Given the description of an element on the screen output the (x, y) to click on. 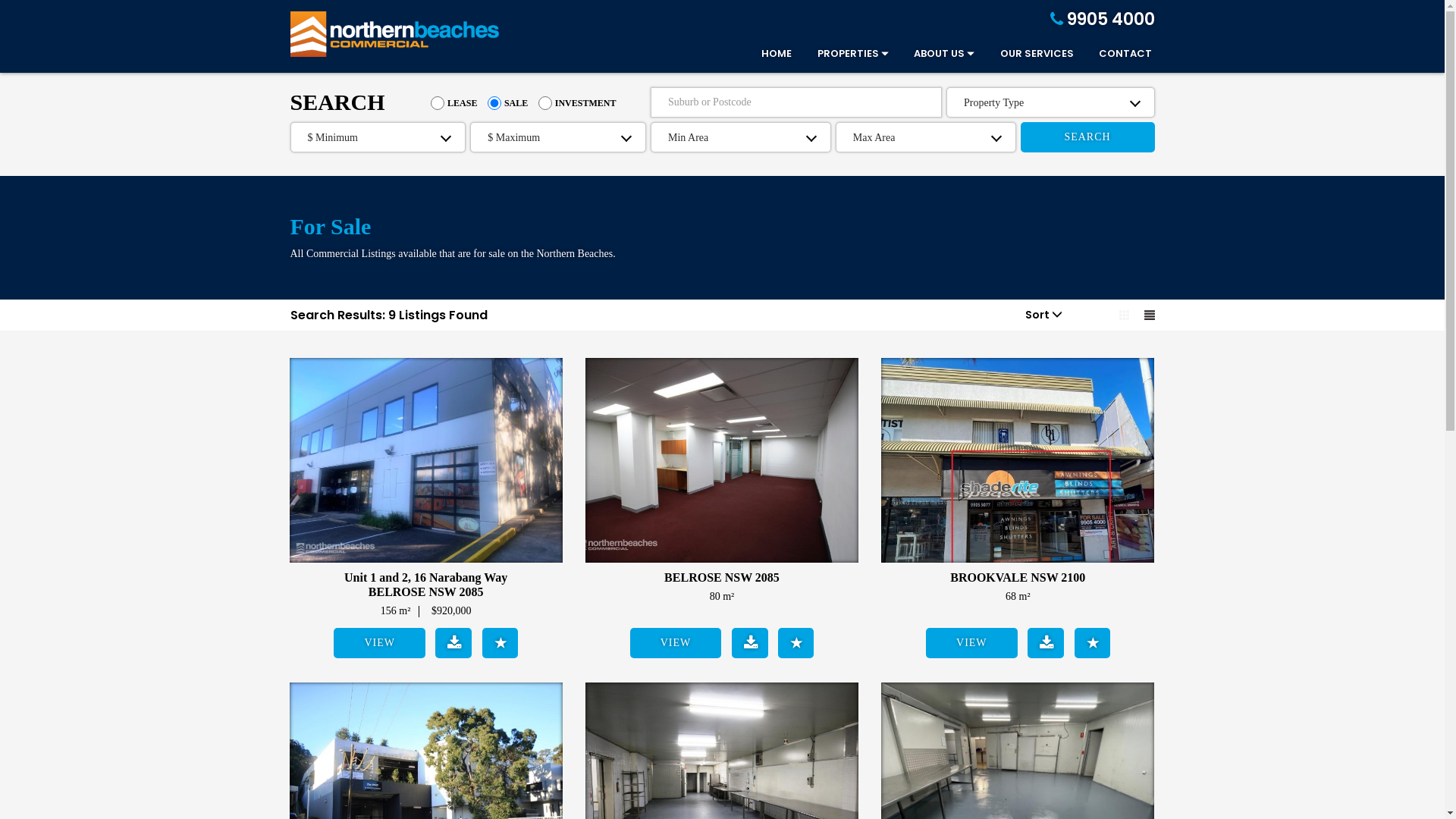
PROPERTIES Element type: text (841, 55)
OUR SERVICES Element type: text (1024, 55)
VIEW Element type: text (379, 642)
Download Brochure Element type: hover (1045, 642)
Add to Shortlist Element type: hover (795, 642)
Download Brochure Element type: hover (453, 642)
ABOUT US Element type: text (932, 55)
VIEW Element type: text (971, 642)
SEARCH Element type: text (1087, 137)
CONTACT Element type: text (1113, 55)
Add to Shortlist Element type: hover (1092, 642)
Sort Element type: text (1043, 314)
Add to Shortlist Element type: hover (499, 642)
9905 4000 Element type: text (1101, 19)
Download Brochure Element type: hover (749, 642)
VIEW Element type: text (675, 642)
HOME Element type: text (764, 55)
